Given the description of an element on the screen output the (x, y) to click on. 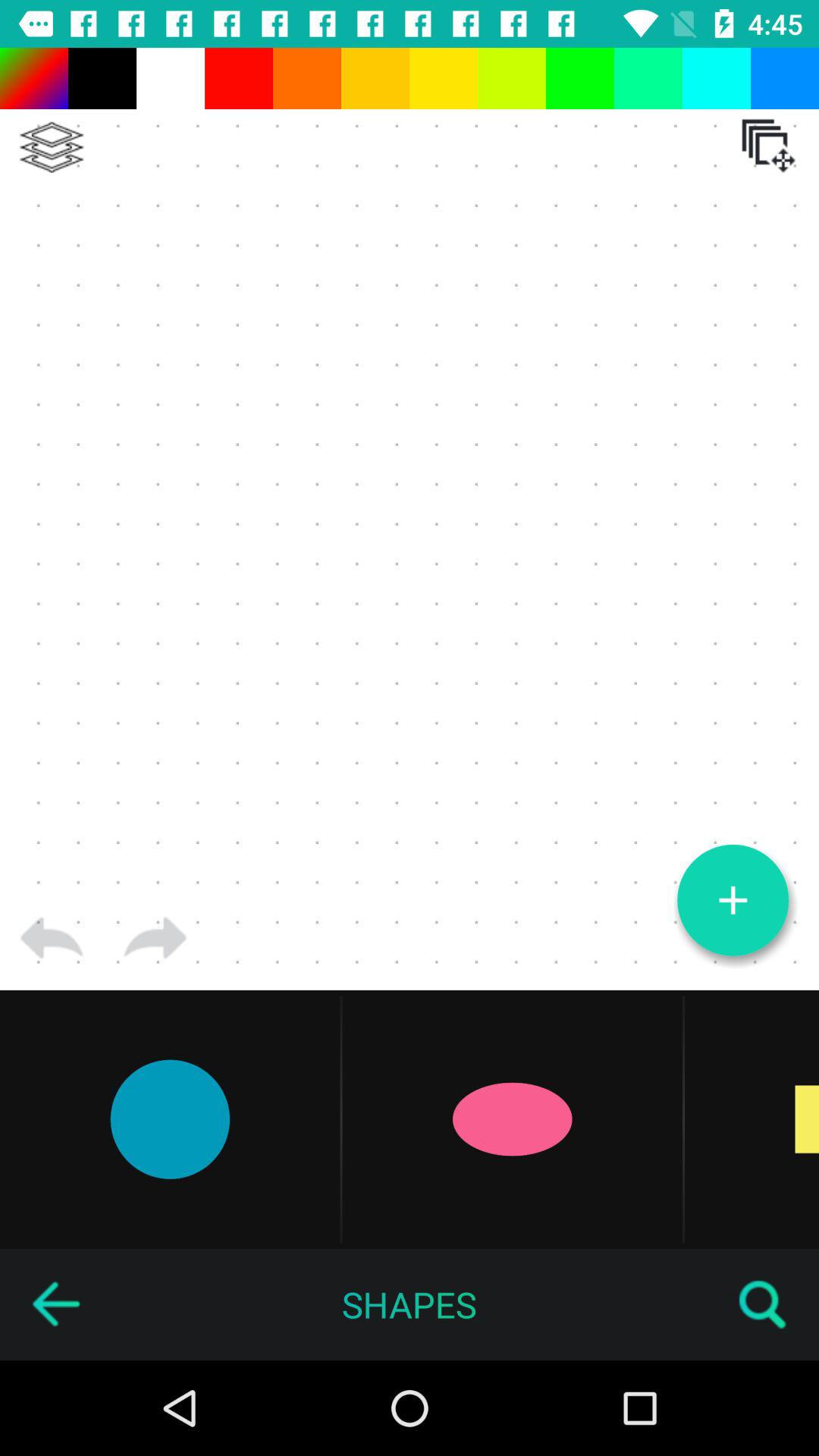
search (763, 1304)
